Given the description of an element on the screen output the (x, y) to click on. 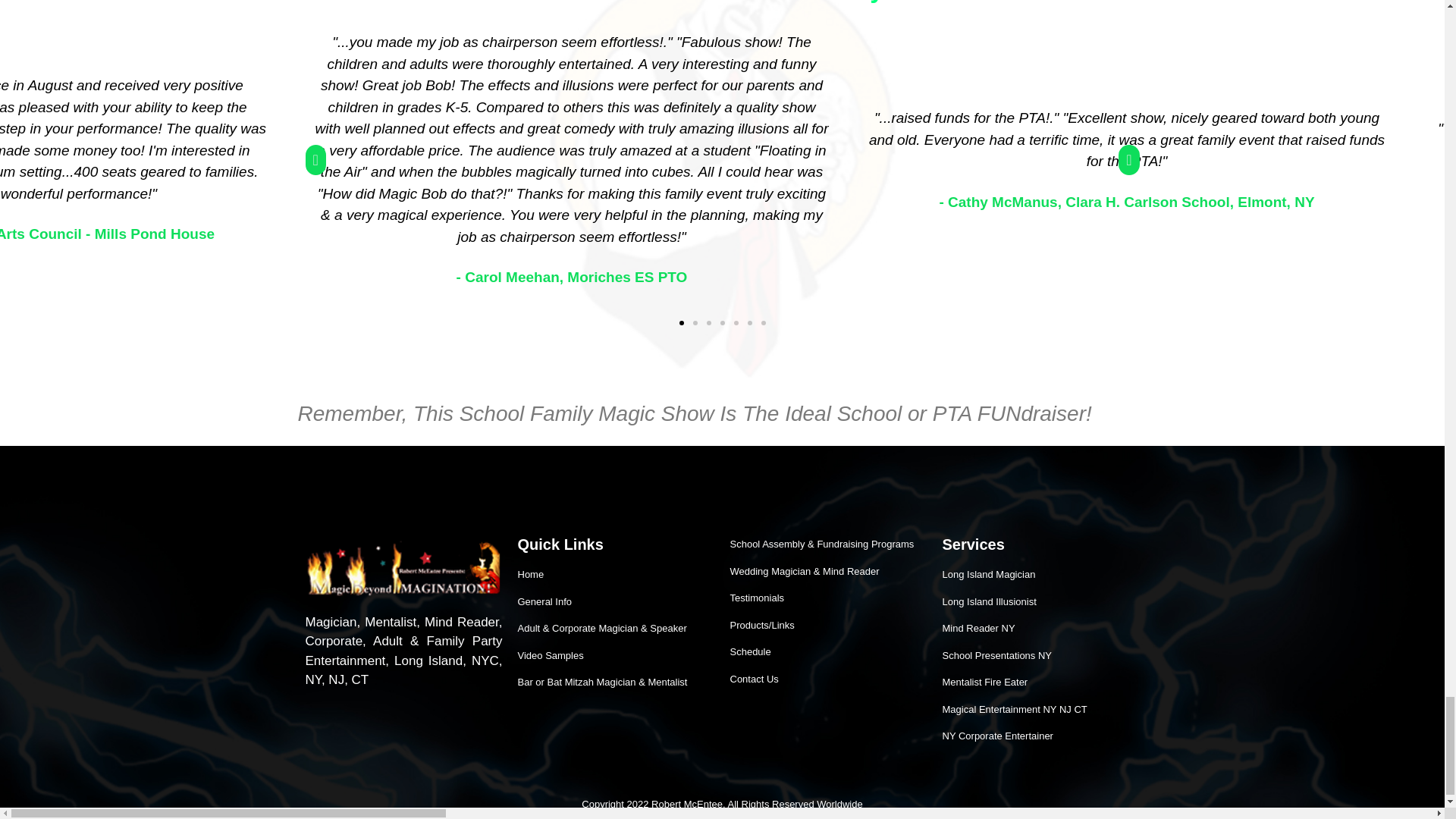
Testimonials (827, 598)
General Info (615, 601)
Schedule (827, 652)
Video Samples (615, 655)
Home (615, 574)
